Given the description of an element on the screen output the (x, y) to click on. 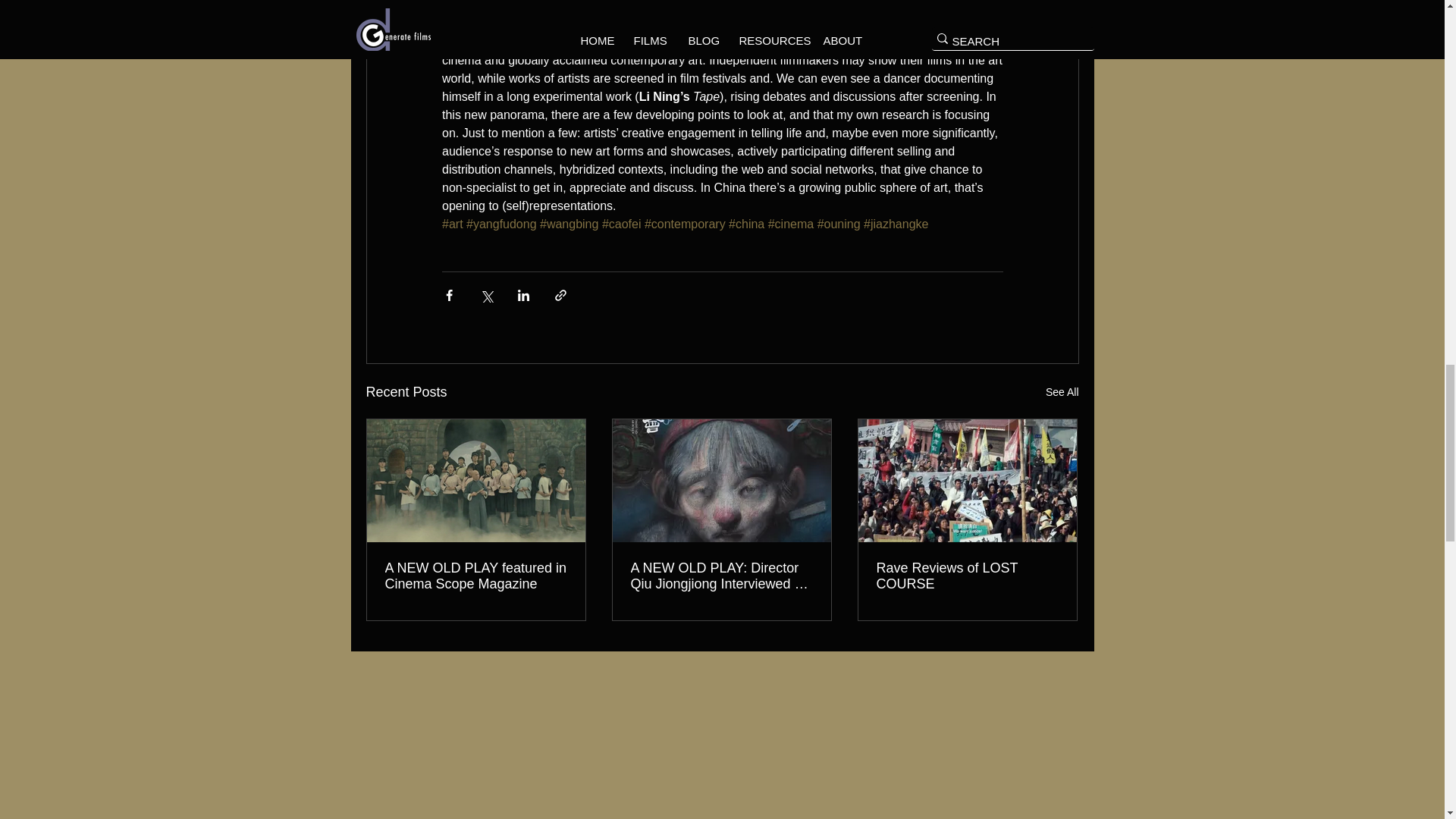
See All (1061, 392)
A NEW OLD PLAY featured in Cinema Scope Magazine (476, 576)
Rave Reviews of LOST COURSE (967, 576)
